Given the description of an element on the screen output the (x, y) to click on. 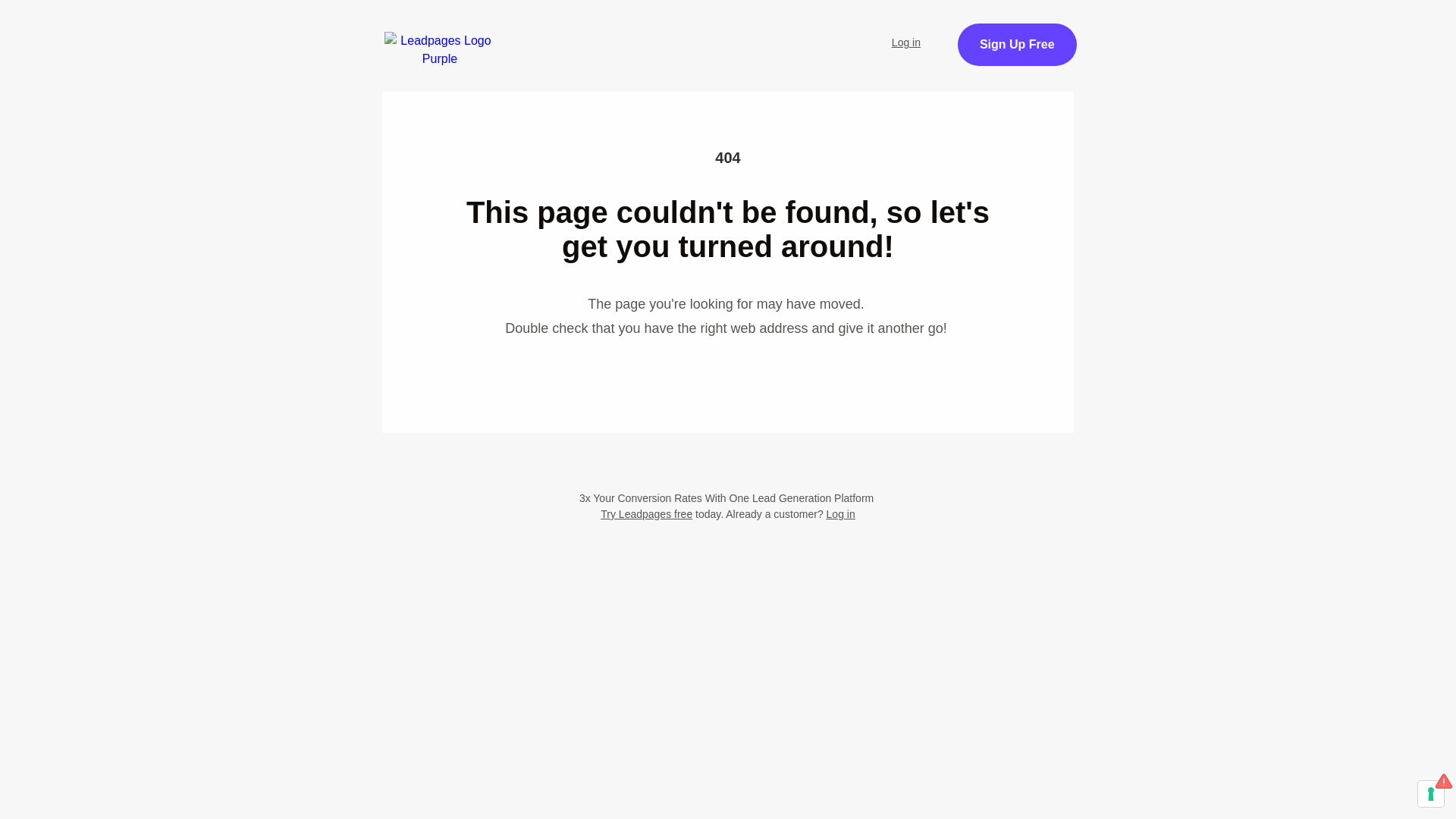
www.genfamproperties.com (803, 219)
